Given the description of an element on the screen output the (x, y) to click on. 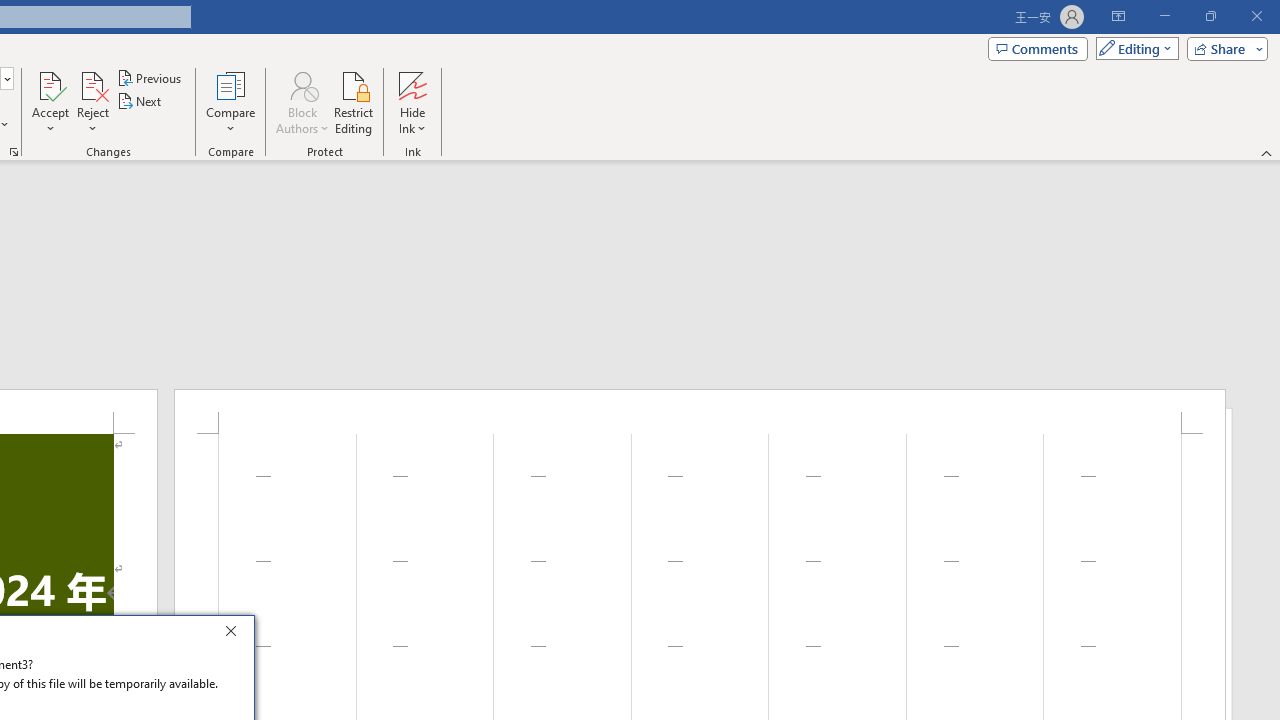
Accept and Move to Next (50, 84)
Previous (150, 78)
Hide Ink (412, 84)
Reject and Move to Next (92, 84)
Compare (230, 102)
Accept (50, 102)
Block Authors (302, 102)
Block Authors (302, 84)
